Given the description of an element on the screen output the (x, y) to click on. 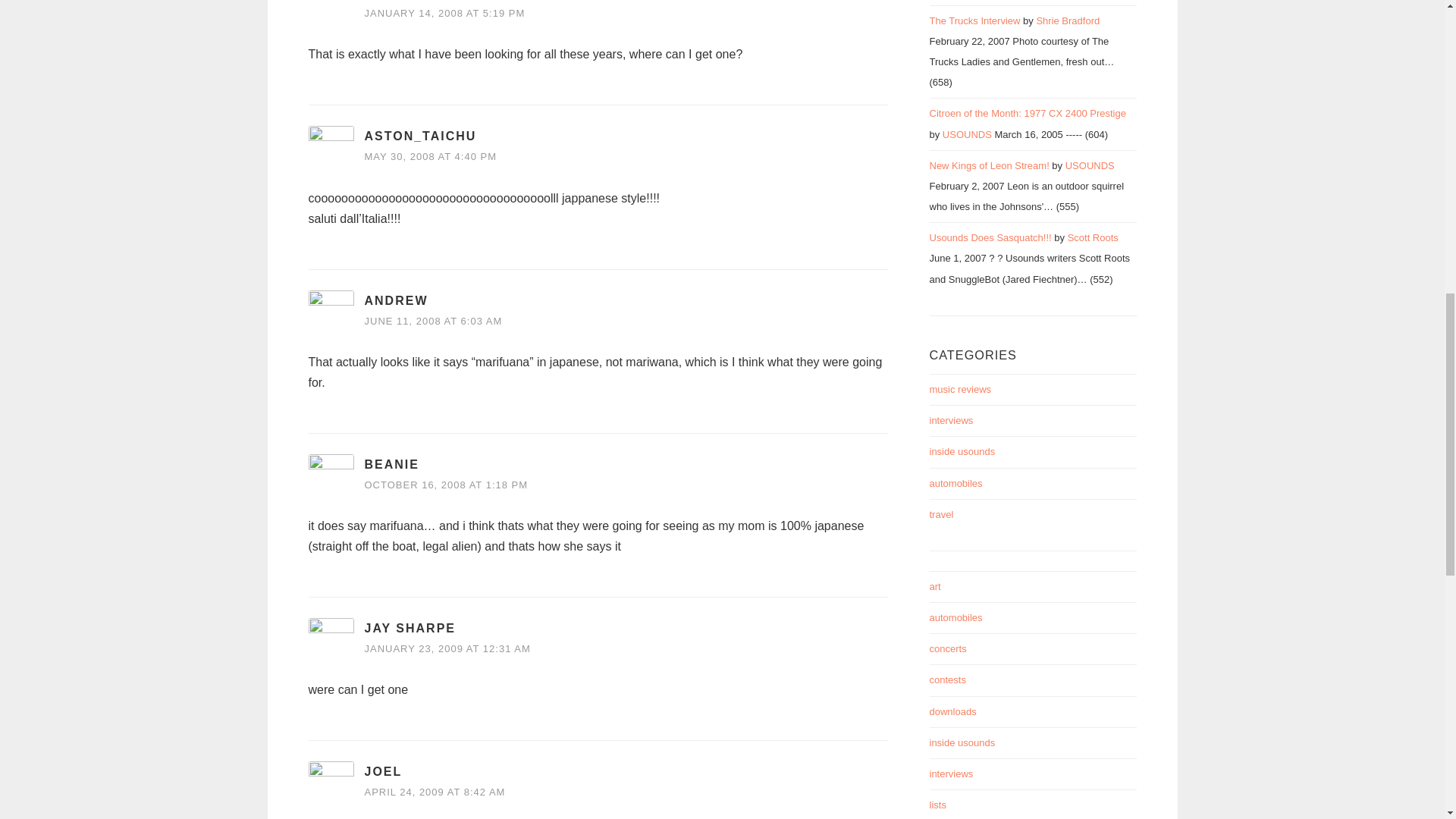
OCTOBER 16, 2008 AT 1:18 PM (445, 484)
The Trucks Interview (975, 20)
Citroen of the Month: 1977 CX 2400 Prestige (1027, 112)
JANUARY 23, 2009 AT 12:31 AM (446, 648)
APRIL 24, 2009 AT 8:42 AM (434, 791)
Shrie Bradford (1067, 20)
JANUARY 14, 2008 AT 5:19 PM (444, 12)
JUNE 11, 2008 AT 6:03 AM (433, 320)
MAY 30, 2008 AT 4:40 PM (430, 156)
USOUNDS (966, 134)
